Given the description of an element on the screen output the (x, y) to click on. 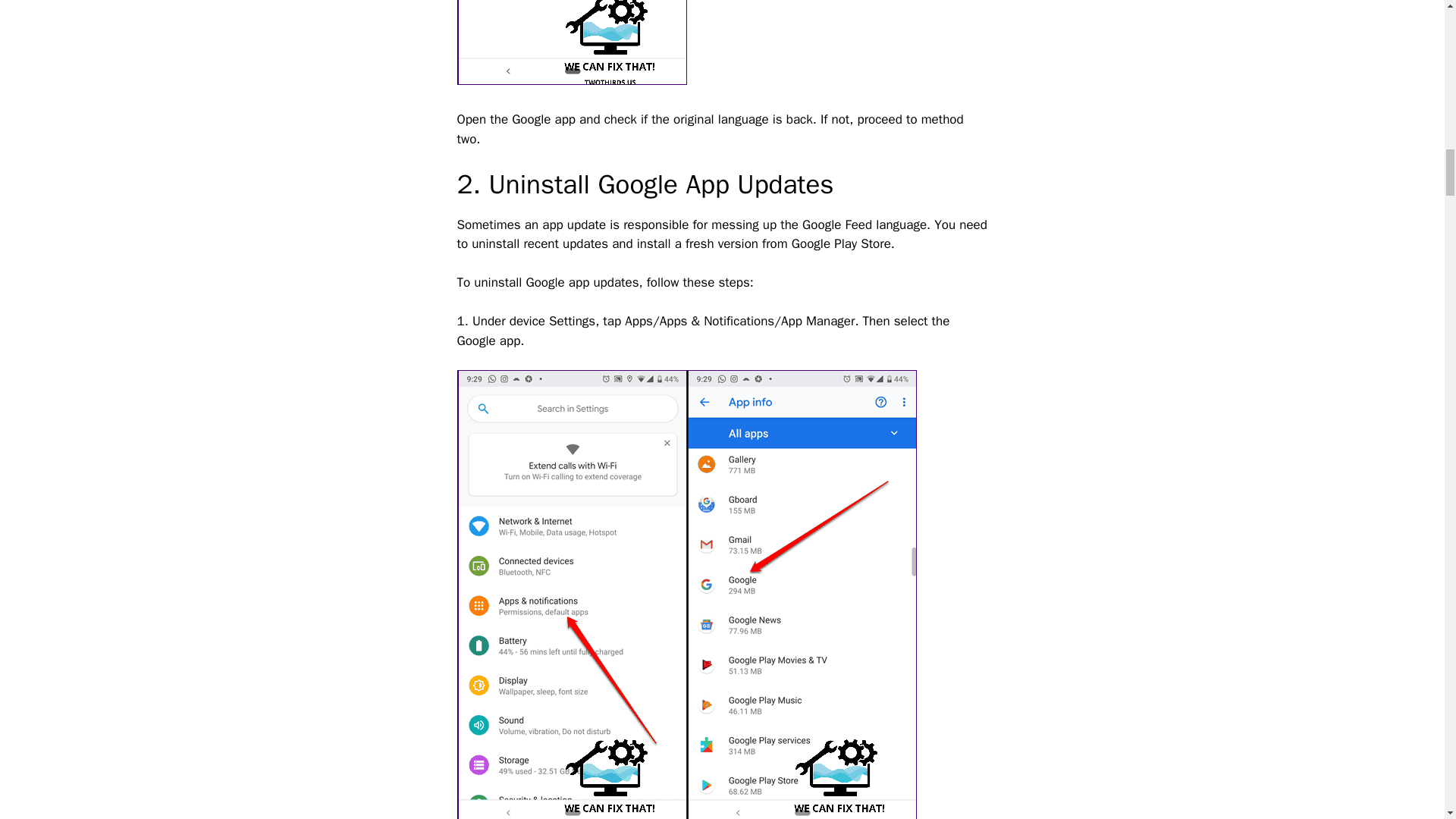
How To Change Google Feed Language in the Google App (802, 594)
How To Change Google Feed Language in the Google App (571, 594)
How To Change Google Feed Language in the Google App (571, 42)
